Given the description of an element on the screen output the (x, y) to click on. 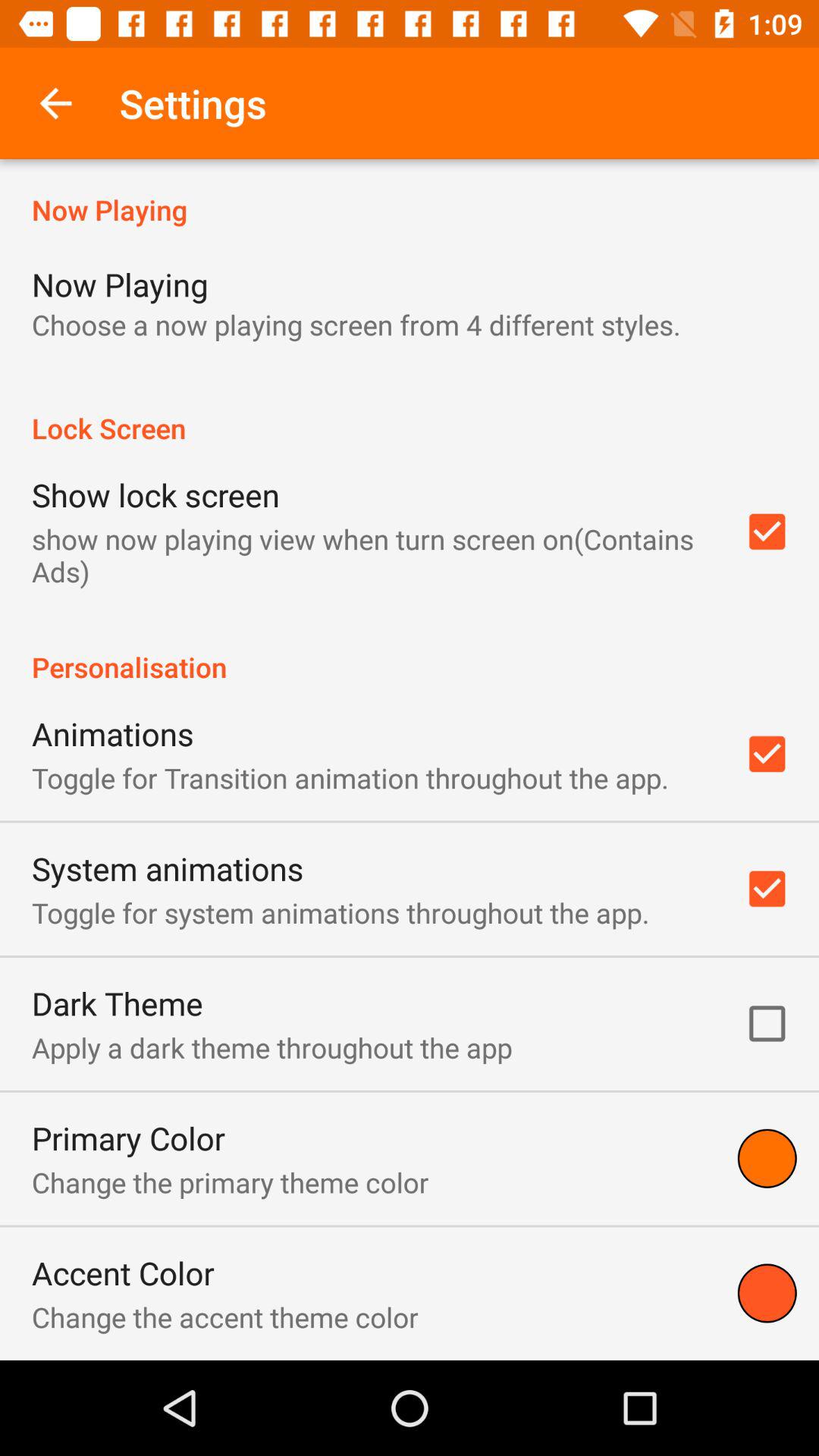
launch the choose a now item (355, 324)
